Given the description of an element on the screen output the (x, y) to click on. 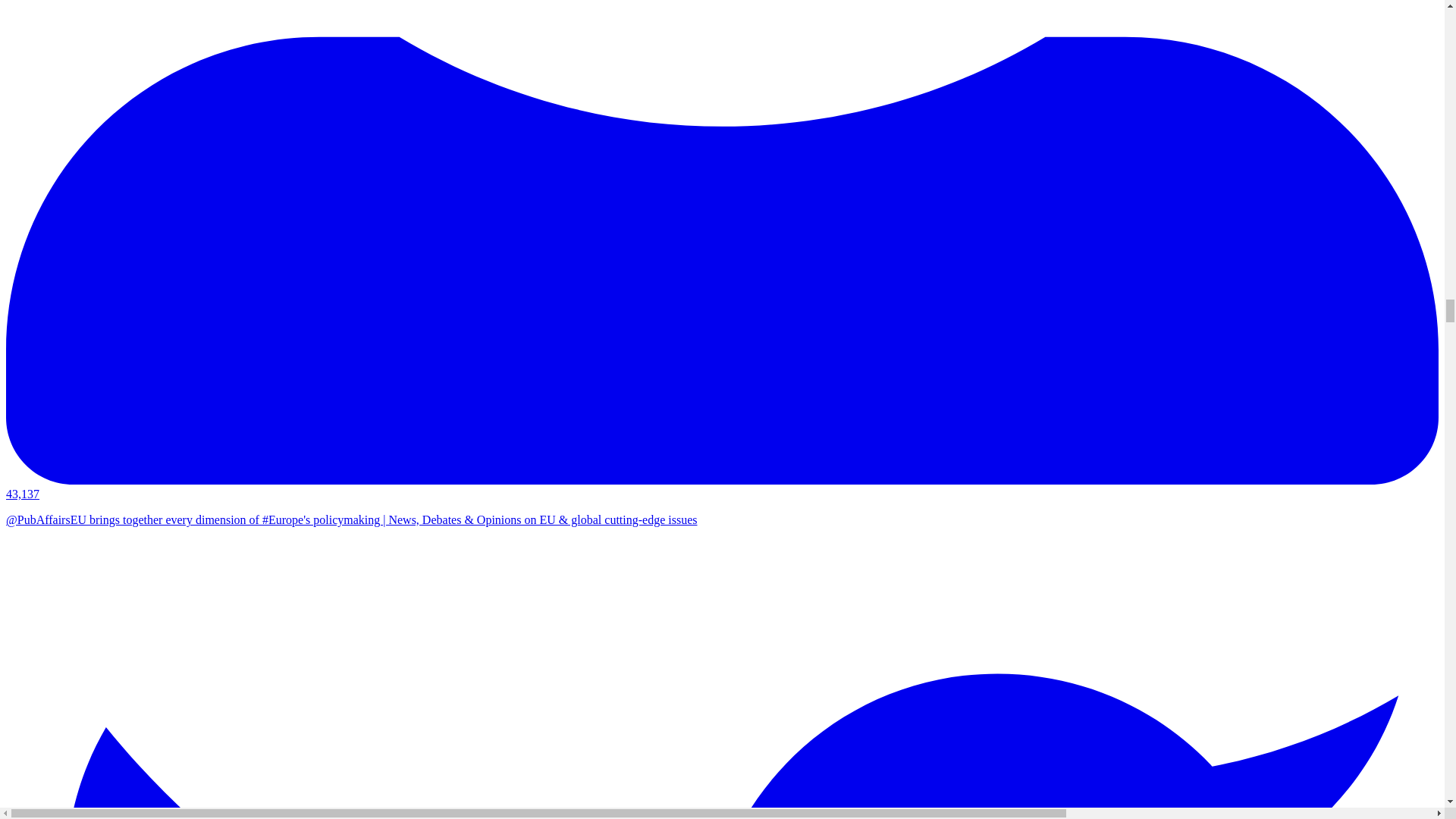
43,137 Followers (721, 487)
